Given the description of an element on the screen output the (x, y) to click on. 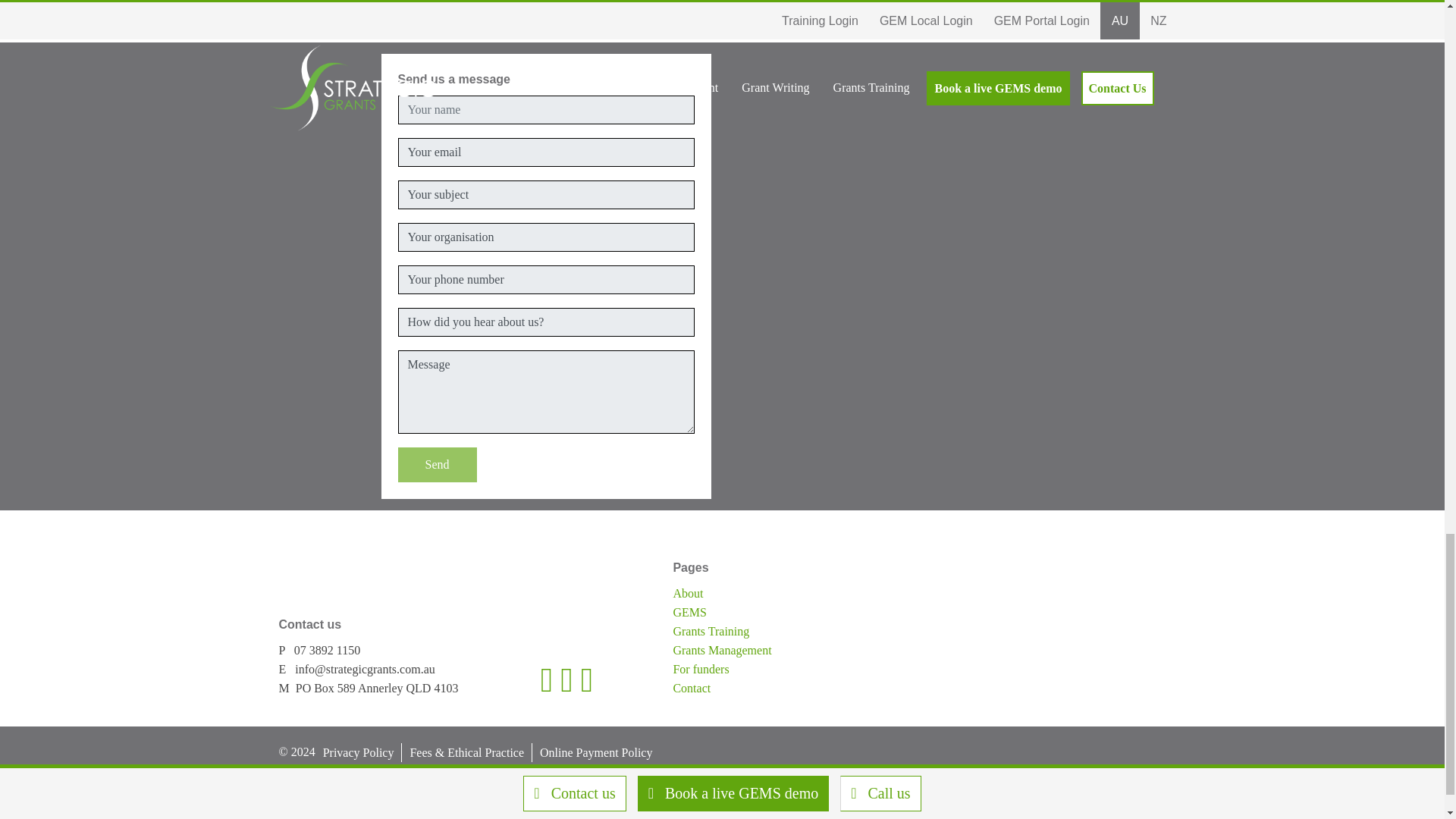
How did you hear about us? (545, 321)
Send (436, 464)
Your email (545, 152)
Your organisation (545, 236)
Your subject (545, 194)
Your phone number (545, 279)
